Given the description of an element on the screen output the (x, y) to click on. 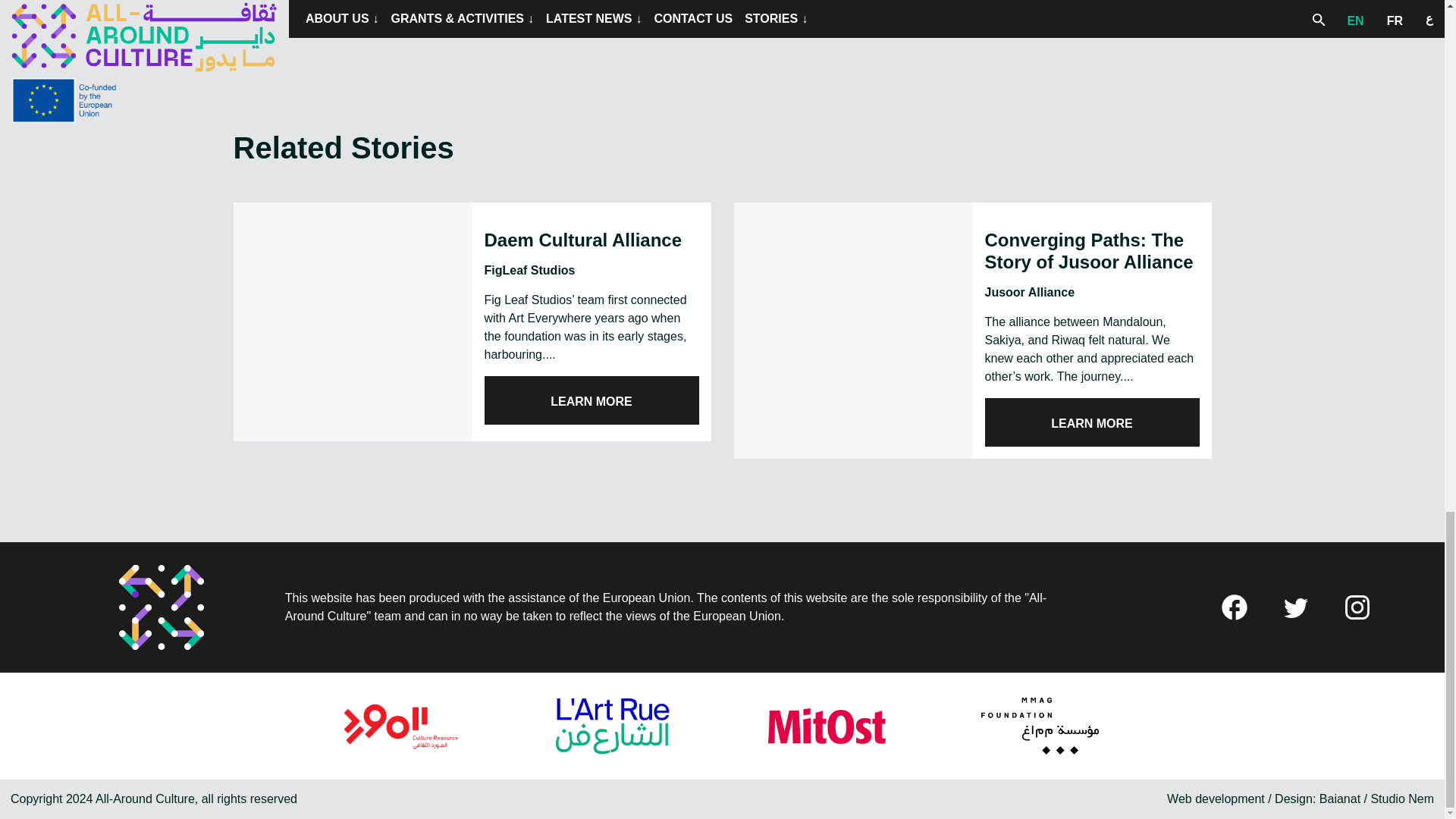
LEARN MORE (590, 400)
Learn more (1091, 422)
LEARN MORE (1091, 422)
All-Around Culture (161, 607)
Learn more (590, 400)
Baianat (1339, 798)
Copy (1045, 13)
